Given the description of an element on the screen output the (x, y) to click on. 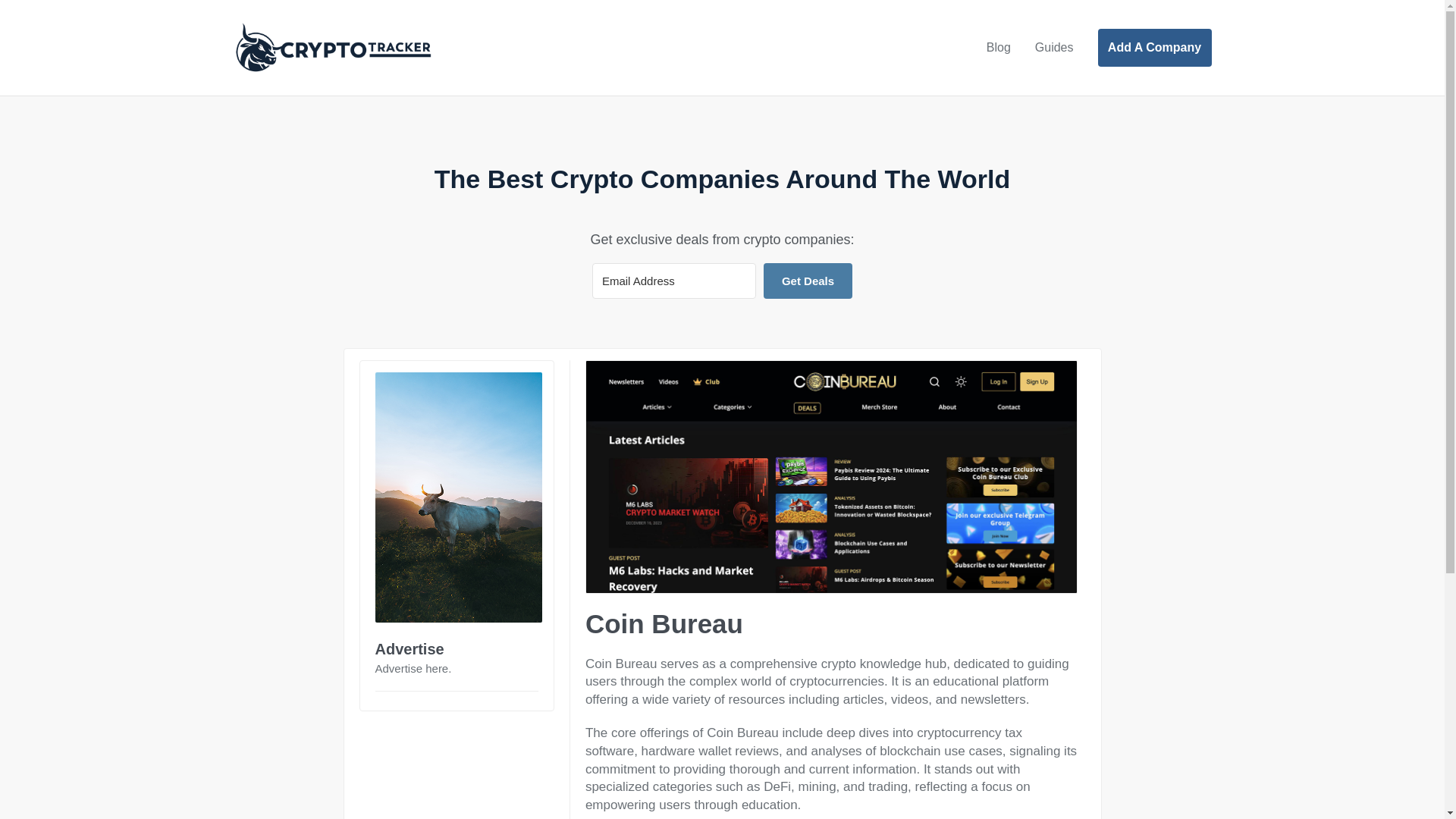
Blog (998, 47)
Advertise (409, 648)
Add A Company (1154, 47)
Get Deals (806, 280)
Guides (1054, 47)
